Given the description of an element on the screen output the (x, y) to click on. 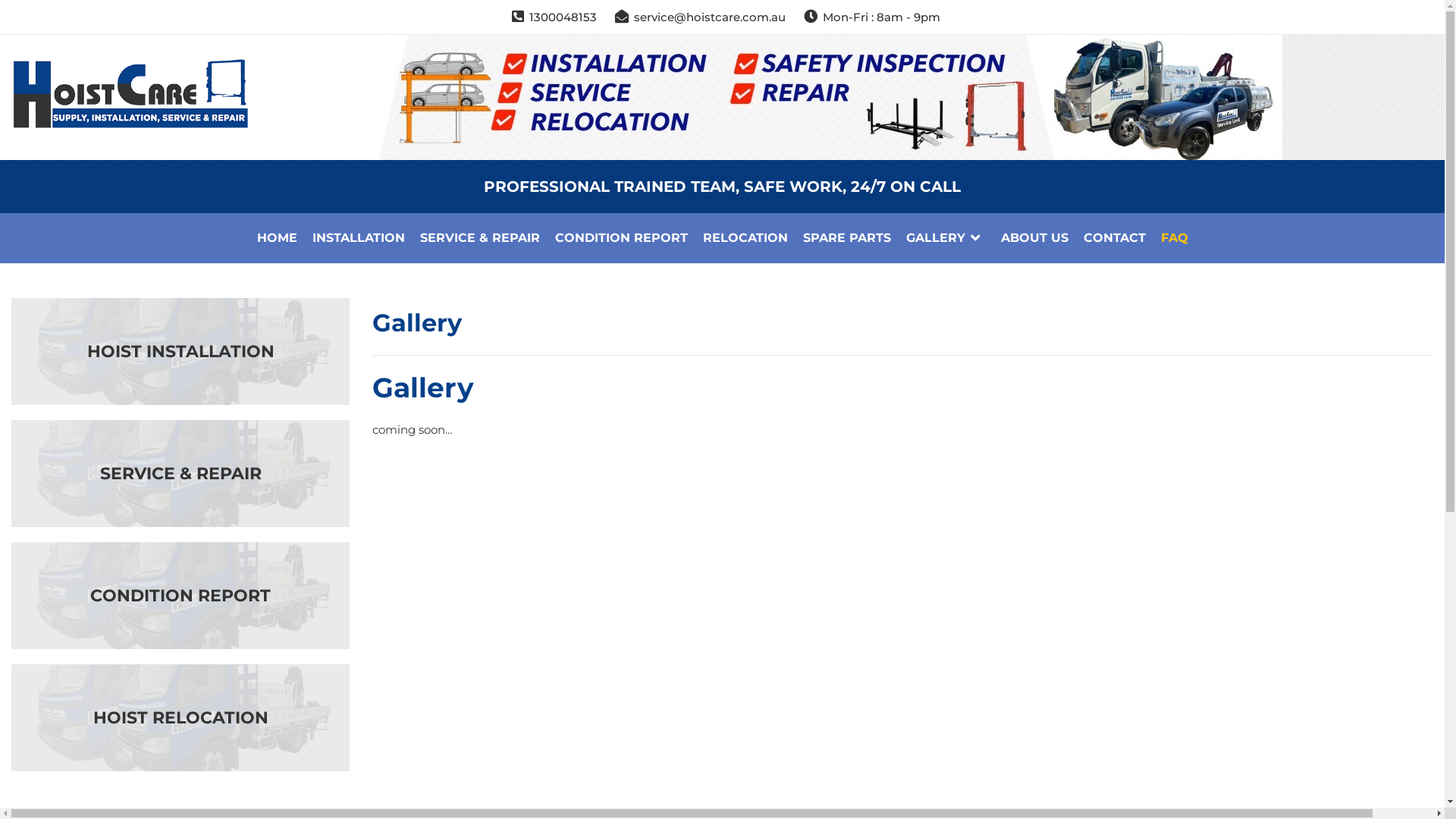
SERVICE & REPAIR Element type: text (180, 473)
ABOUT US Element type: text (1034, 237)
HOME Element type: text (276, 237)
CONTACT Element type: text (1113, 237)
HOIST INSTALLATION Element type: text (180, 351)
HOIST RELOCATION Element type: text (180, 717)
SPARE PARTS Element type: text (846, 237)
FAQ Element type: text (1173, 237)
CONDITION REPORT Element type: text (621, 237)
1300048153 Element type: text (562, 16)
GALLERY Element type: text (945, 237)
RELOCATION Element type: text (744, 237)
SERVICE & REPAIR Element type: text (480, 237)
INSTALLATION Element type: text (358, 237)
CONDITION REPORT Element type: text (180, 595)
service@hoistcare.com.au Element type: text (709, 16)
